Given the description of an element on the screen output the (x, y) to click on. 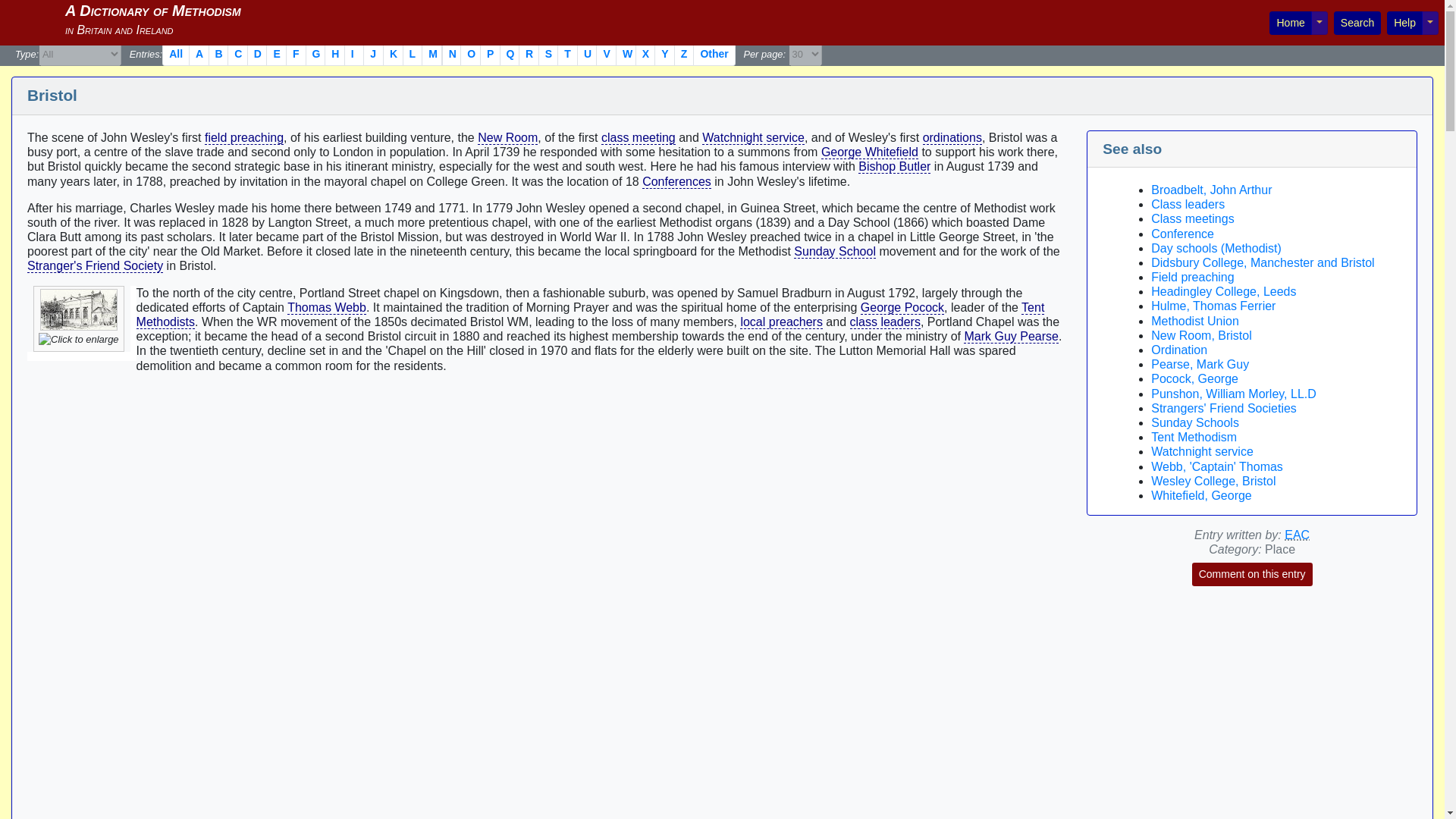
Search page (1356, 22)
All (175, 54)
Help (1404, 22)
Entry for field preaching (244, 137)
Home (1290, 22)
Entry for ordinations (952, 137)
Entry for Watchnight service (753, 137)
Entry for George Whitefield (869, 151)
Go to home page (1290, 22)
Help page (1404, 22)
